Given the description of an element on the screen output the (x, y) to click on. 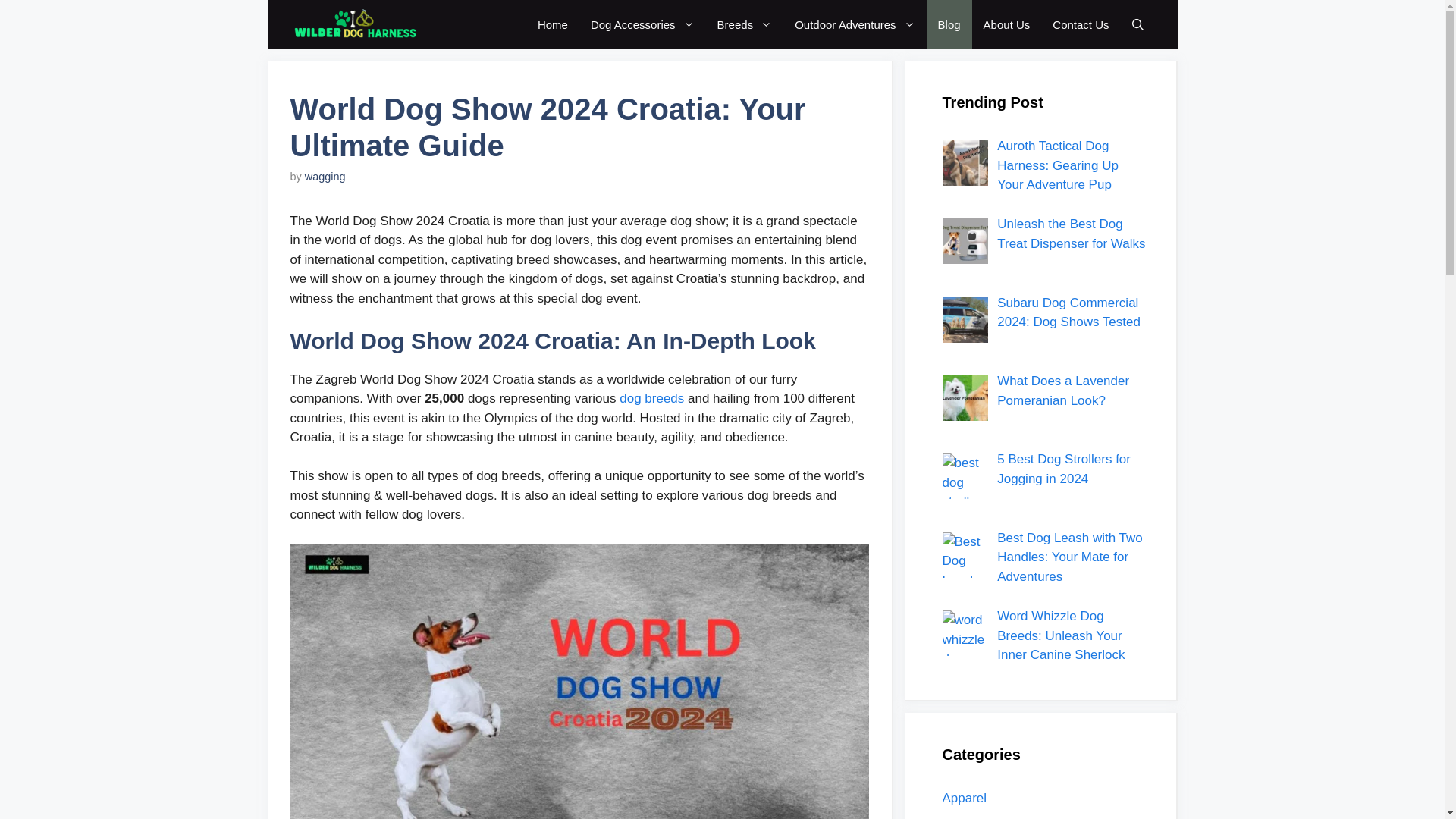
Home (552, 24)
View all posts by wagging (325, 176)
Unleash the Best Dog Treat Dispenser for Walks (1070, 233)
Contact Us (1080, 24)
dog breeds (653, 398)
About Us (1007, 24)
Blog (949, 24)
Subaru Dog Commercial 2024: Dog Shows Tested (1068, 312)
wagging (325, 176)
Wilder Dog Harness (354, 24)
Auroth Tactical Dog Harness: Gearing Up Your Adventure Pup (1057, 164)
Outdoor Adventures (854, 24)
Breeds (745, 24)
Dog Accessories (642, 24)
